Given the description of an element on the screen output the (x, y) to click on. 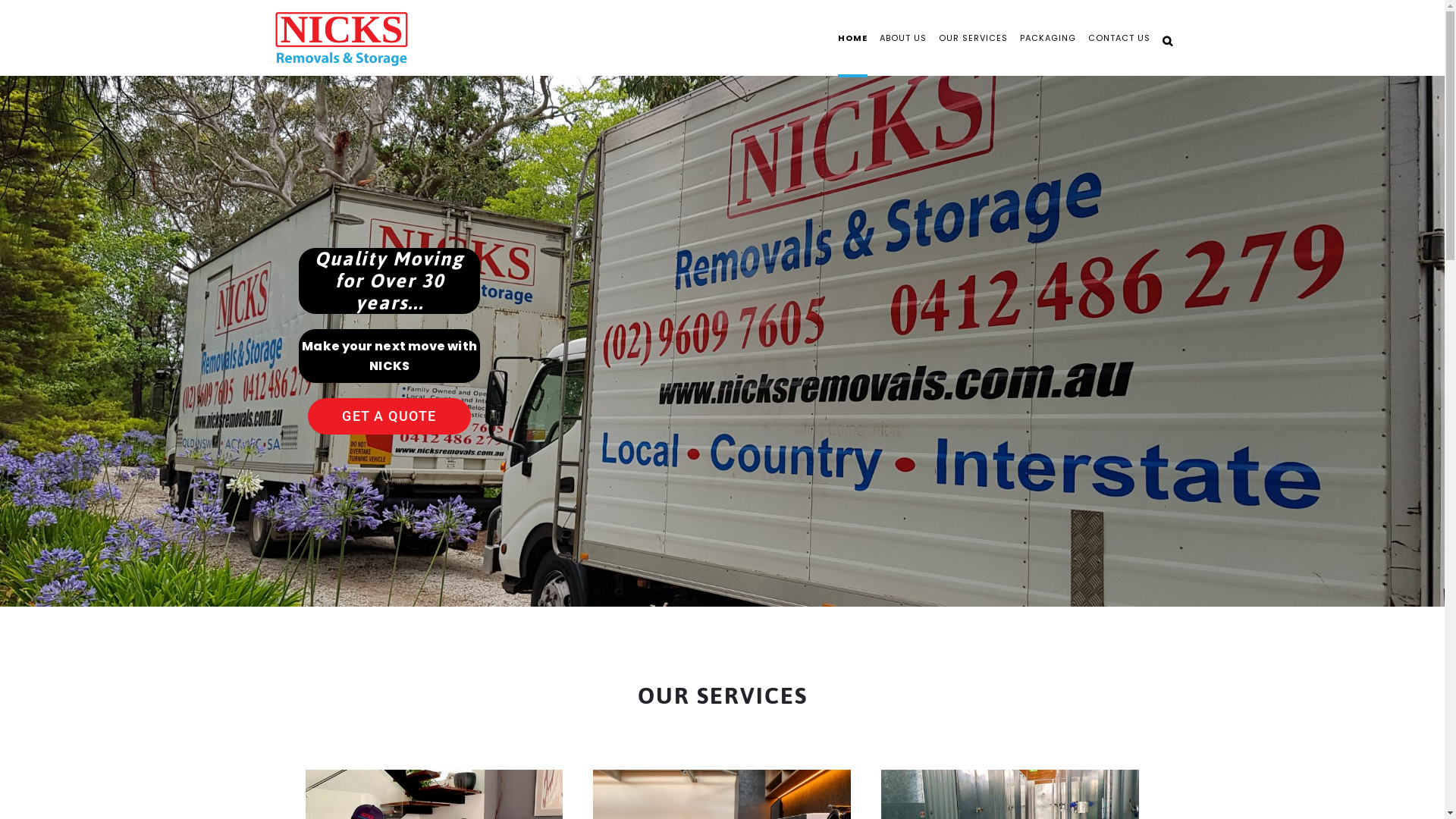
CONTACT US Element type: text (1118, 37)
OUR SERVICES Element type: text (972, 37)
ABOUT US Element type: text (902, 37)
HOME Element type: text (851, 37)
PACKAGING Element type: text (1047, 37)
GET A QUOTE Element type: text (388, 416)
